Given the description of an element on the screen output the (x, y) to click on. 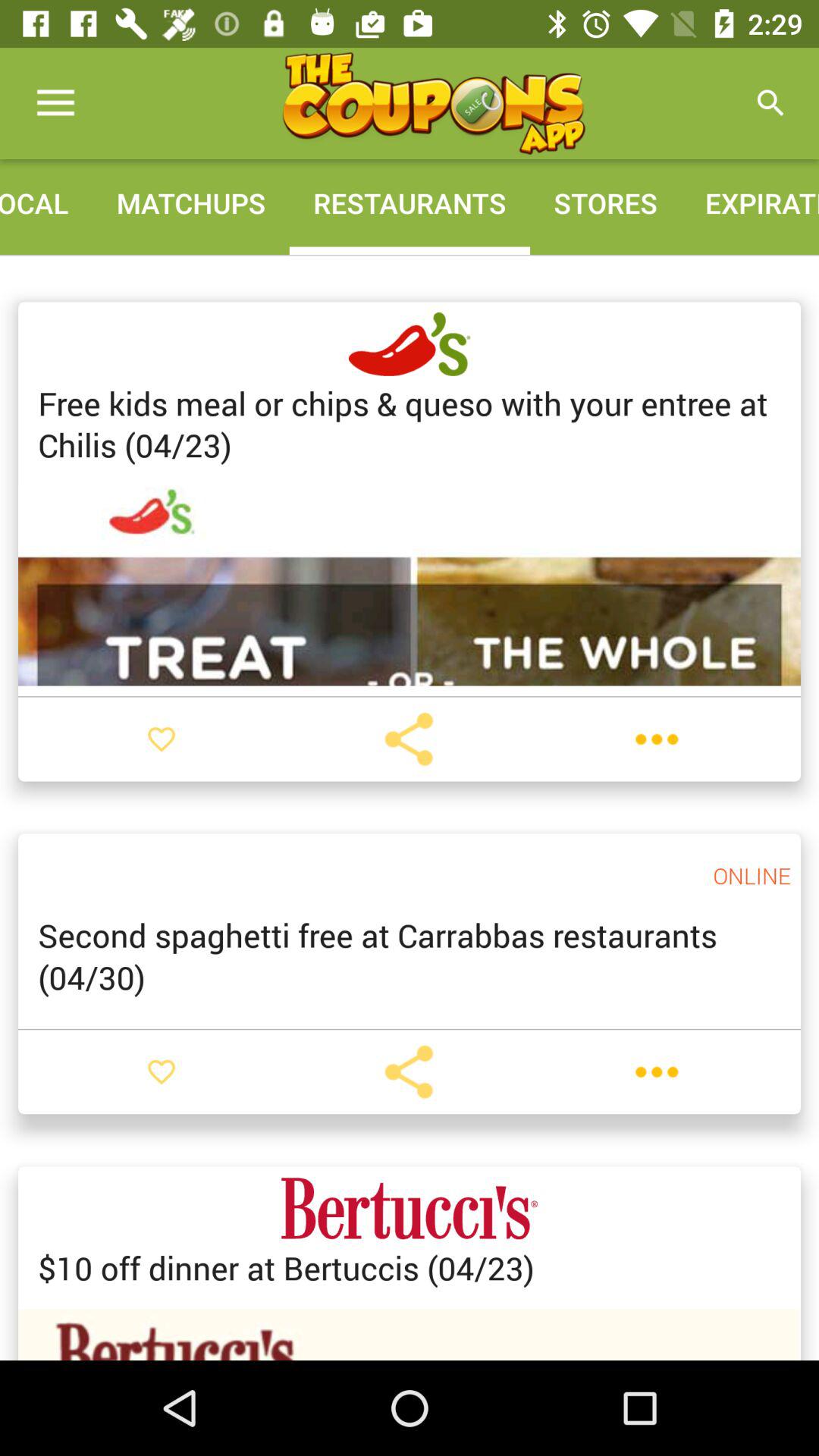
select 10 off dinner (286, 1267)
